Given the description of an element on the screen output the (x, y) to click on. 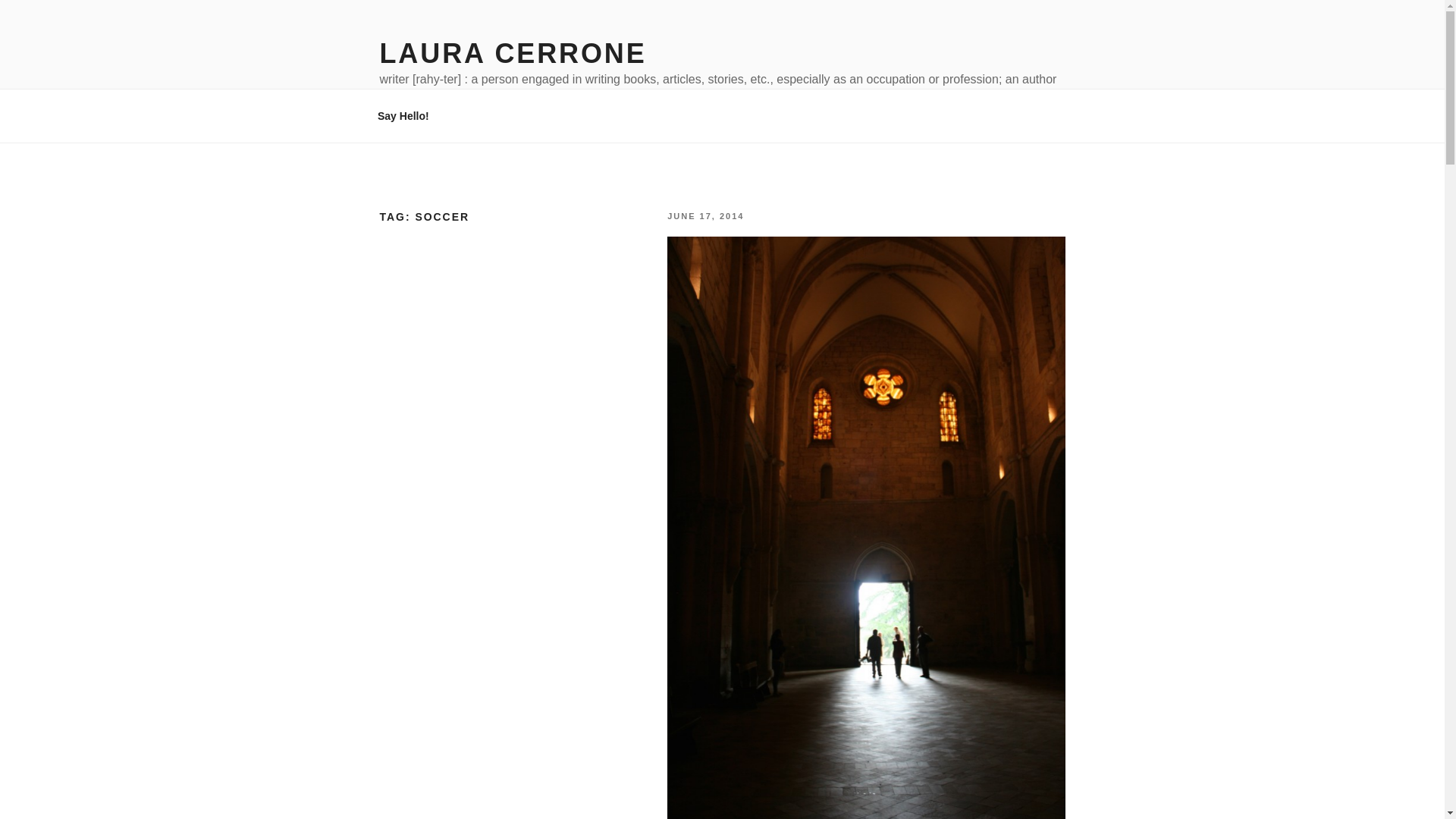
Say Hello! (403, 115)
LAURA CERRONE (512, 52)
JUNE 17, 2014 (705, 215)
